Given the description of an element on the screen output the (x, y) to click on. 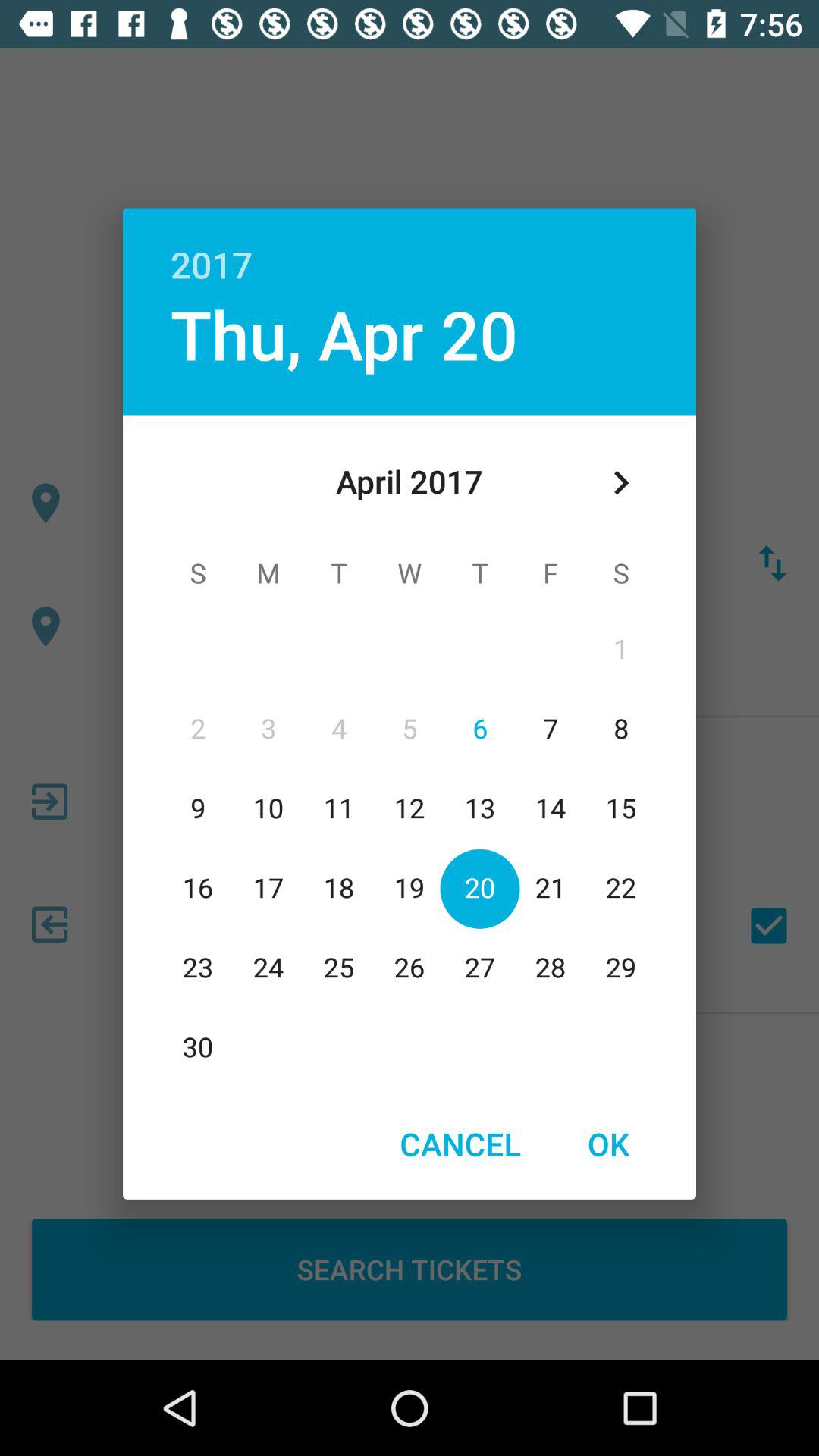
tap icon to the right of cancel item (608, 1143)
